Given the description of an element on the screen output the (x, y) to click on. 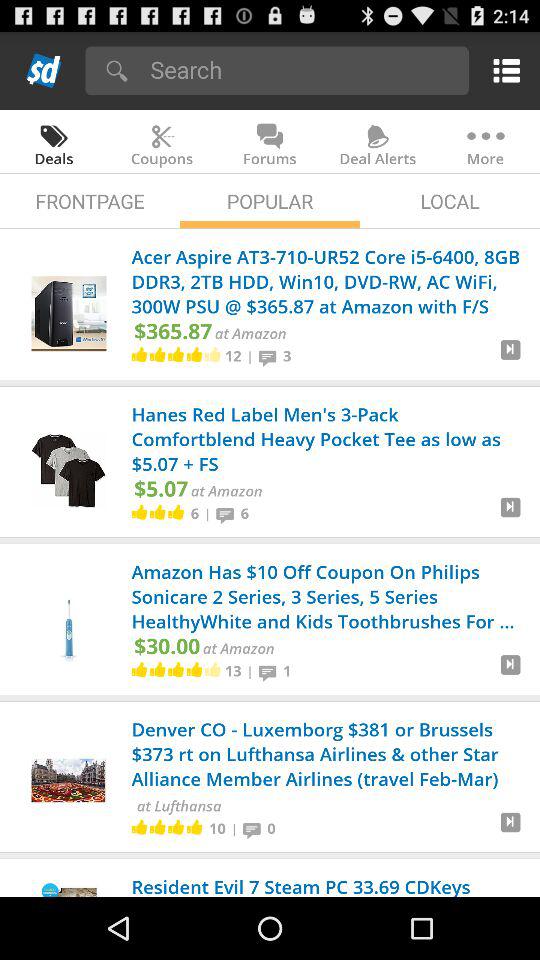
click app next to the popular item (450, 200)
